Given the description of an element on the screen output the (x, y) to click on. 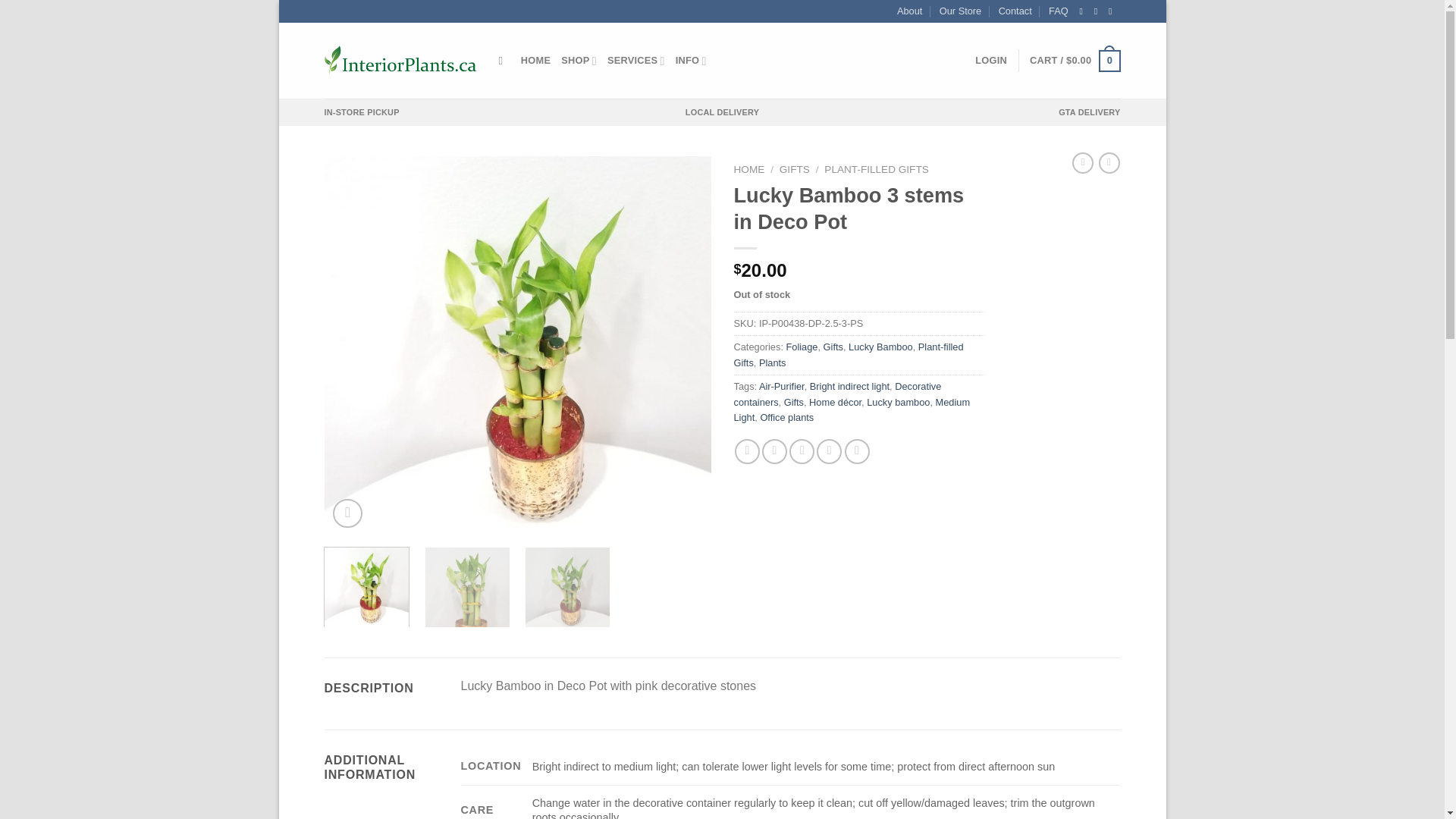
InteriorPlants.ca - Indoor Plants (400, 60)
INFO (690, 60)
SHOP (578, 60)
SERVICES (636, 60)
HOME (535, 60)
